Given the description of an element on the screen output the (x, y) to click on. 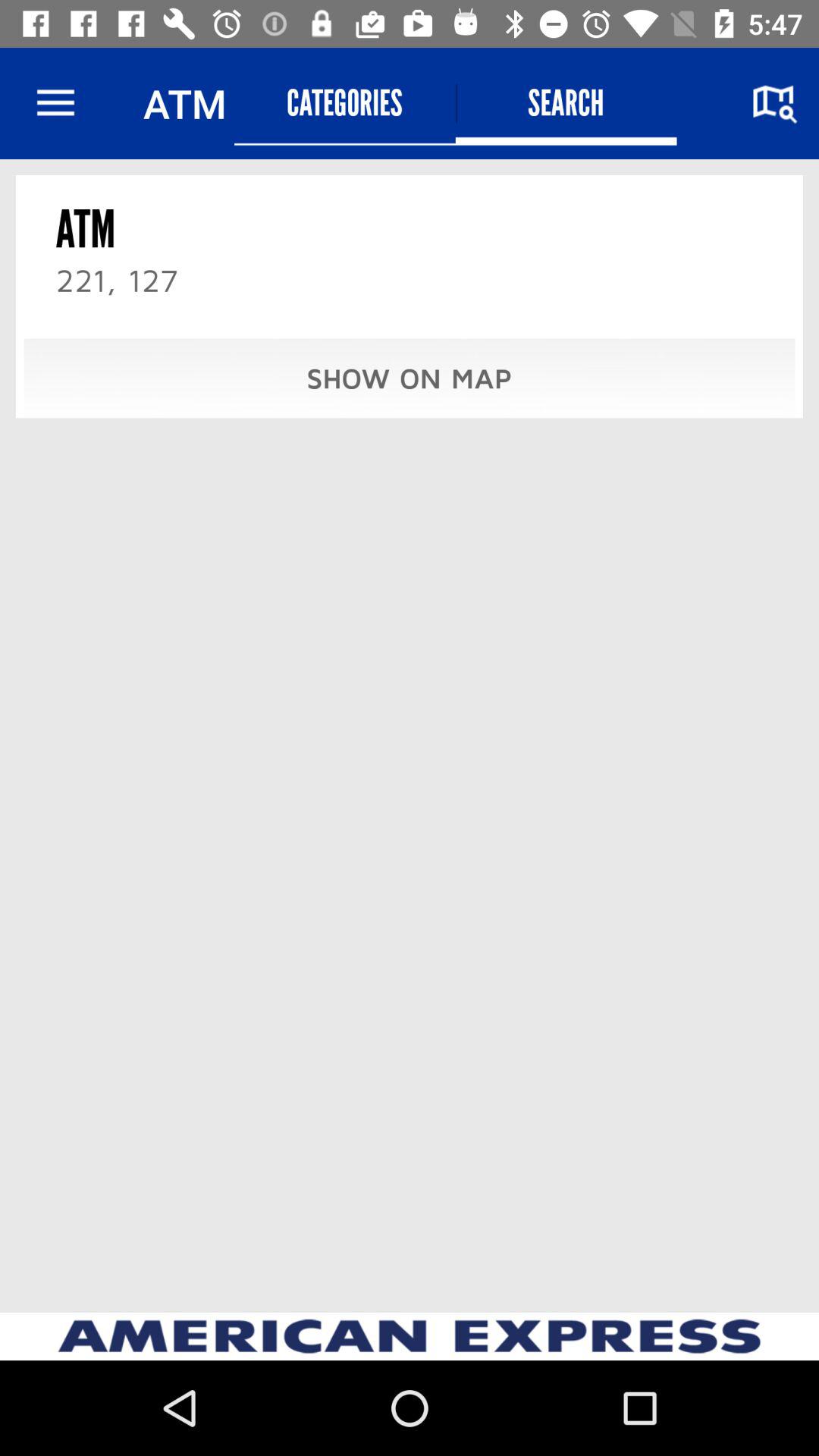
select item next to the atm item (344, 103)
